Given the description of an element on the screen output the (x, y) to click on. 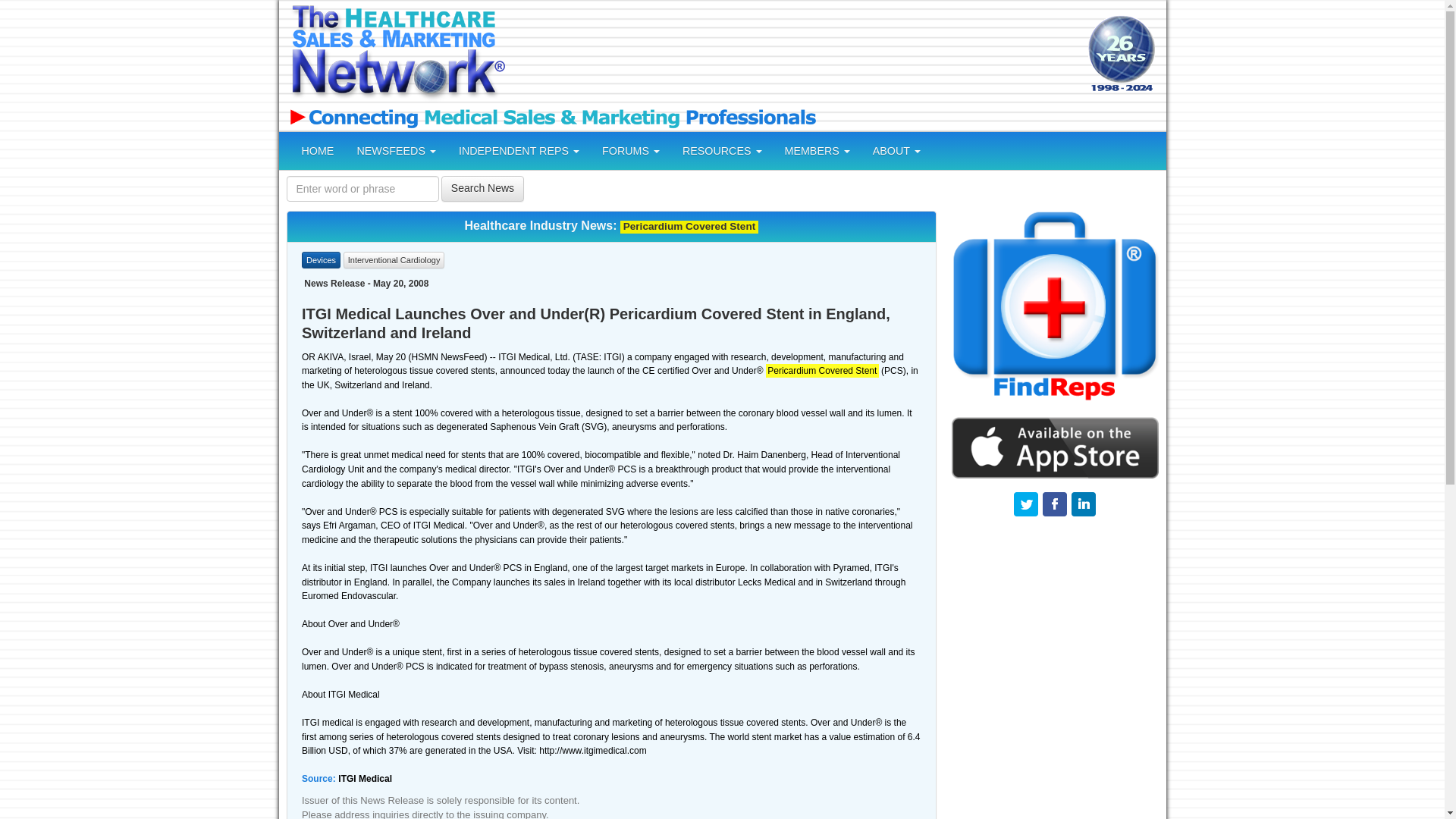
Advertisement (794, 55)
HOME (317, 150)
Advertisement (1054, 676)
RESOURCES  (722, 150)
INDEPENDENT REPS  (518, 150)
NEWSFEEDS  (395, 150)
Search News (482, 188)
FORUMS  (631, 150)
